Given the description of an element on the screen output the (x, y) to click on. 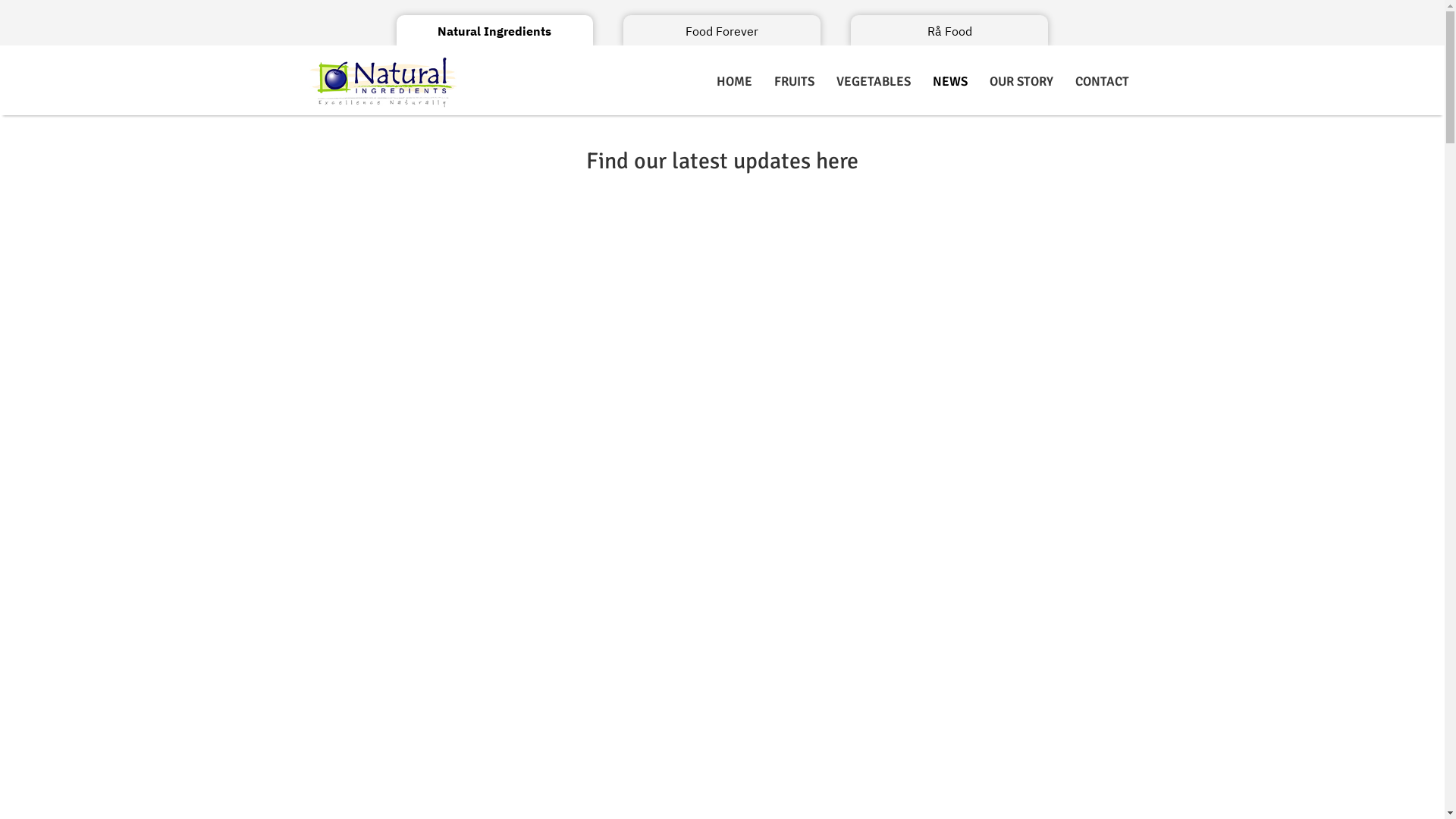
NEWS Element type: text (950, 82)
CONTACT Element type: text (1101, 82)
Natural Ingredient oldlogo small Element type: hover (382, 81)
HOME Element type: text (734, 82)
VEGETABLES Element type: text (873, 82)
Food Forever Element type: text (721, 31)
Natural Ingredients Element type: text (494, 31)
OUR STORY Element type: text (1021, 82)
FRUITS Element type: text (794, 82)
